Given the description of an element on the screen output the (x, y) to click on. 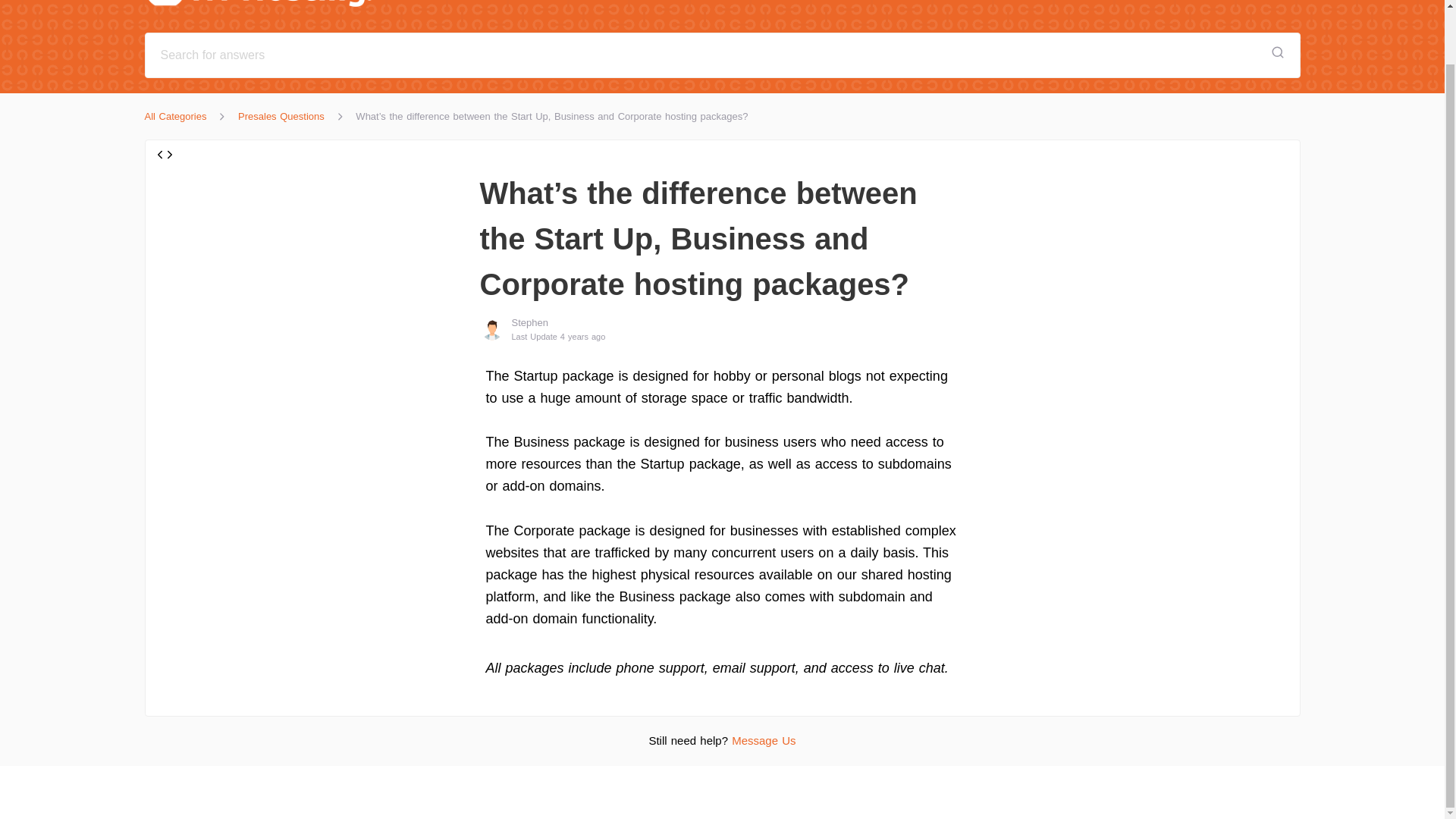
Service Status (1031, 1)
Contact Support (1132, 1)
Help Centre (313, 8)
wphosting.com.au (1243, 1)
Presales Questions (281, 116)
All Categories (175, 116)
Message Us (763, 739)
